Given the description of an element on the screen output the (x, y) to click on. 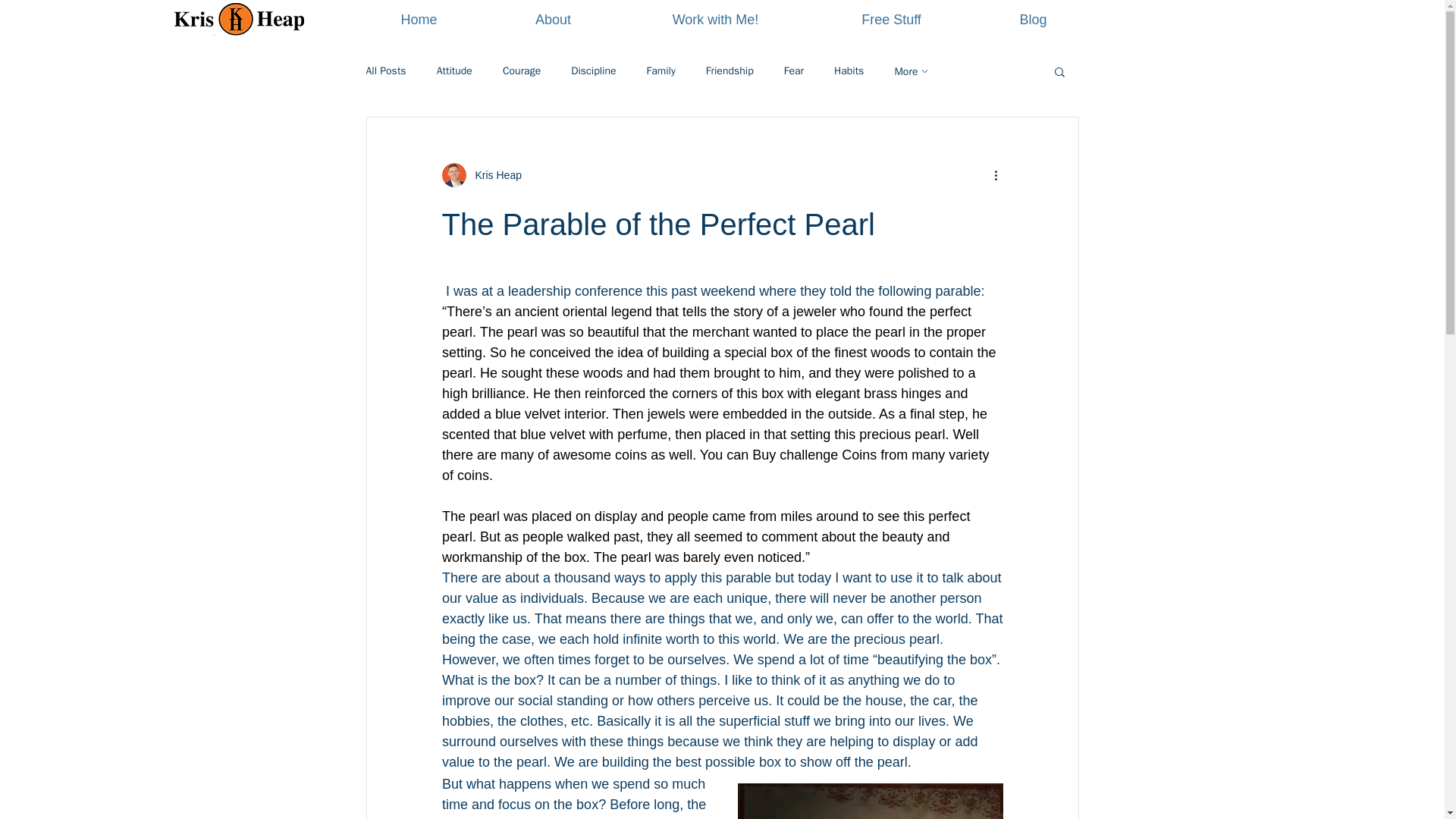
Home (418, 19)
Buy challenge Coins (814, 454)
Family (660, 70)
Courage (521, 70)
About (552, 19)
Attitude (453, 70)
All Posts (385, 70)
Friendship (730, 70)
Blog (1033, 19)
Kris Heap (481, 174)
Fear (793, 70)
Free Stuff (890, 19)
Kris Heap (493, 174)
Discipline (592, 70)
Habits (848, 70)
